Given the description of an element on the screen output the (x, y) to click on. 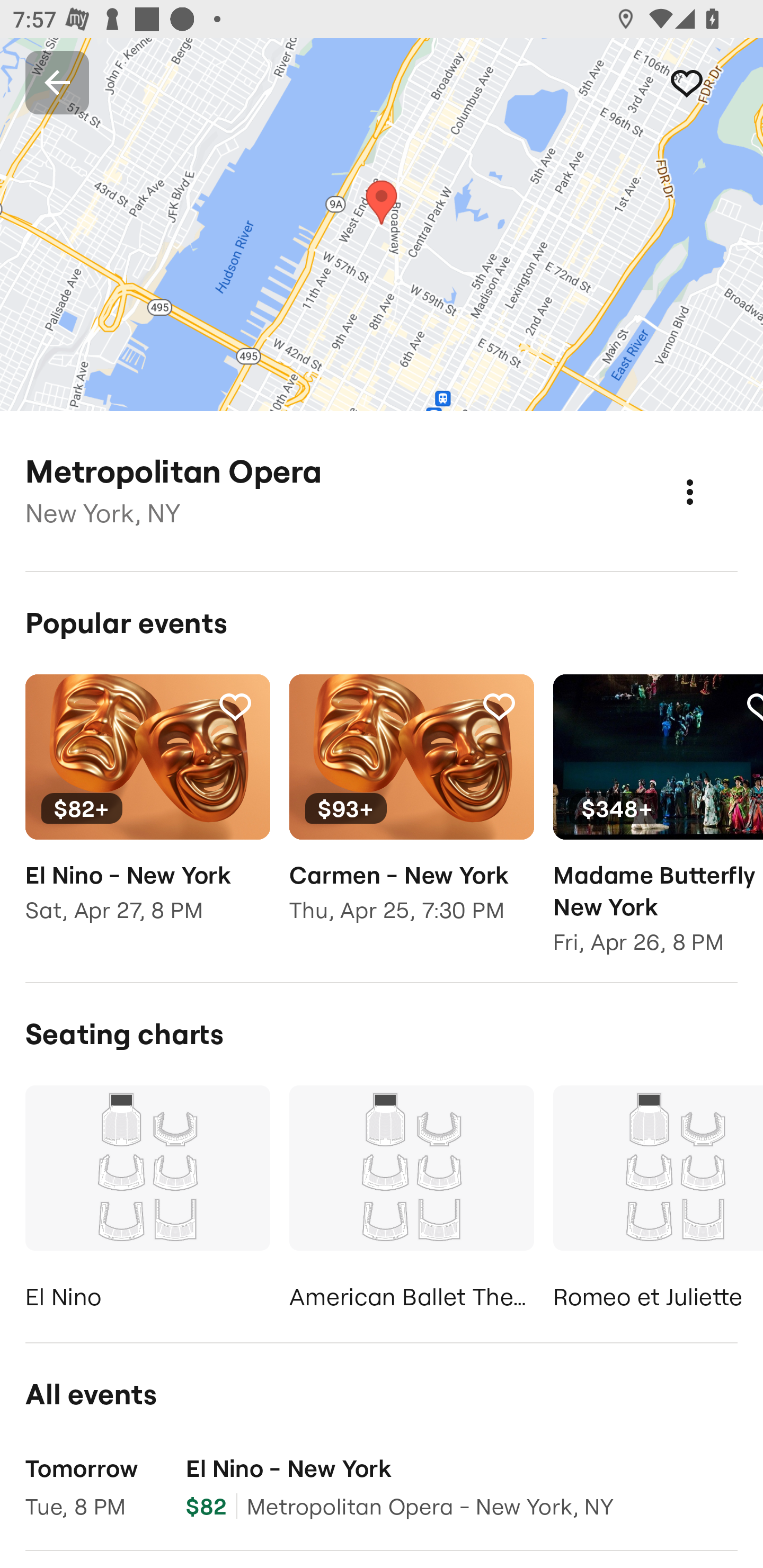
Back (57, 81)
Tracking (705, 81)
See more options (708, 472)
Tracking $82+ El Nino - New York Sat, Apr 27, 8 PM (147, 811)
Tracking (234, 705)
Tracking (498, 705)
El Nino (147, 1201)
American Ballet Theatre (411, 1201)
Romeo et Juliette (658, 1201)
